Given the description of an element on the screen output the (x, y) to click on. 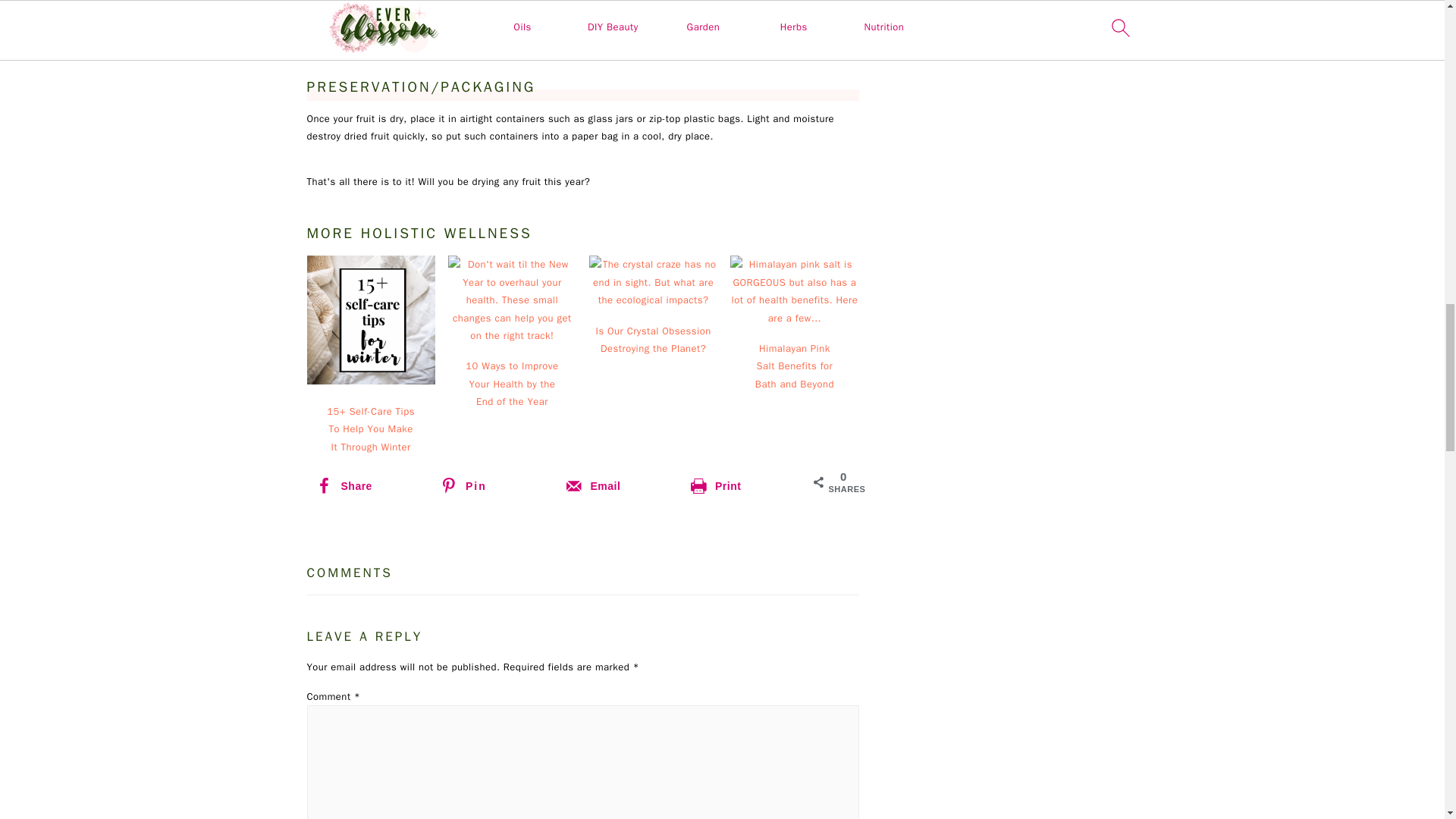
Share on Facebook (367, 485)
Print this webpage (743, 485)
Save to Pinterest (493, 485)
Send over email (618, 485)
